Given the description of an element on the screen output the (x, y) to click on. 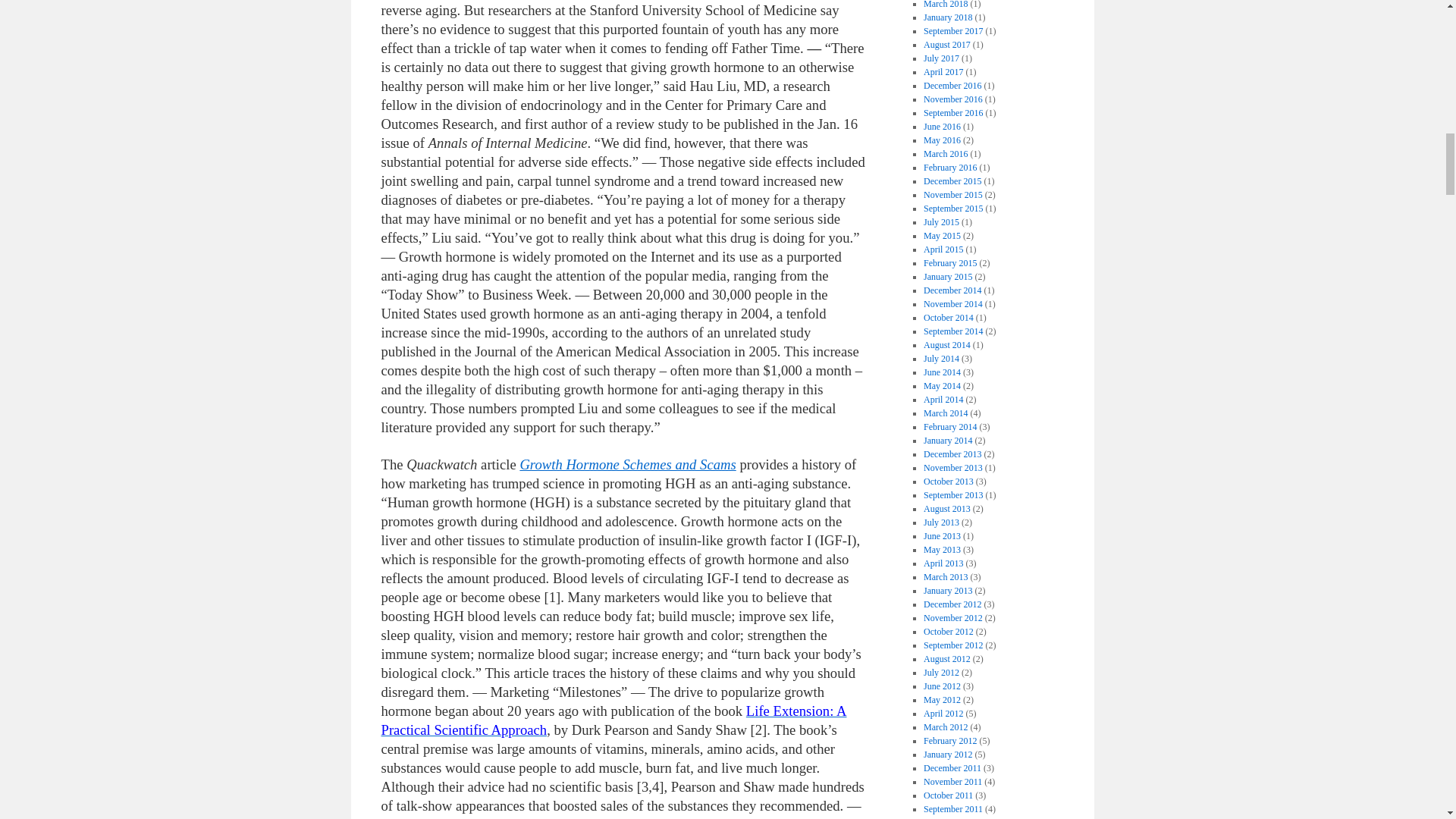
Life Extension: A Practical Scientific Approach (612, 719)
Growth Hormone Schemes and Scams (627, 464)
